Given the description of an element on the screen output the (x, y) to click on. 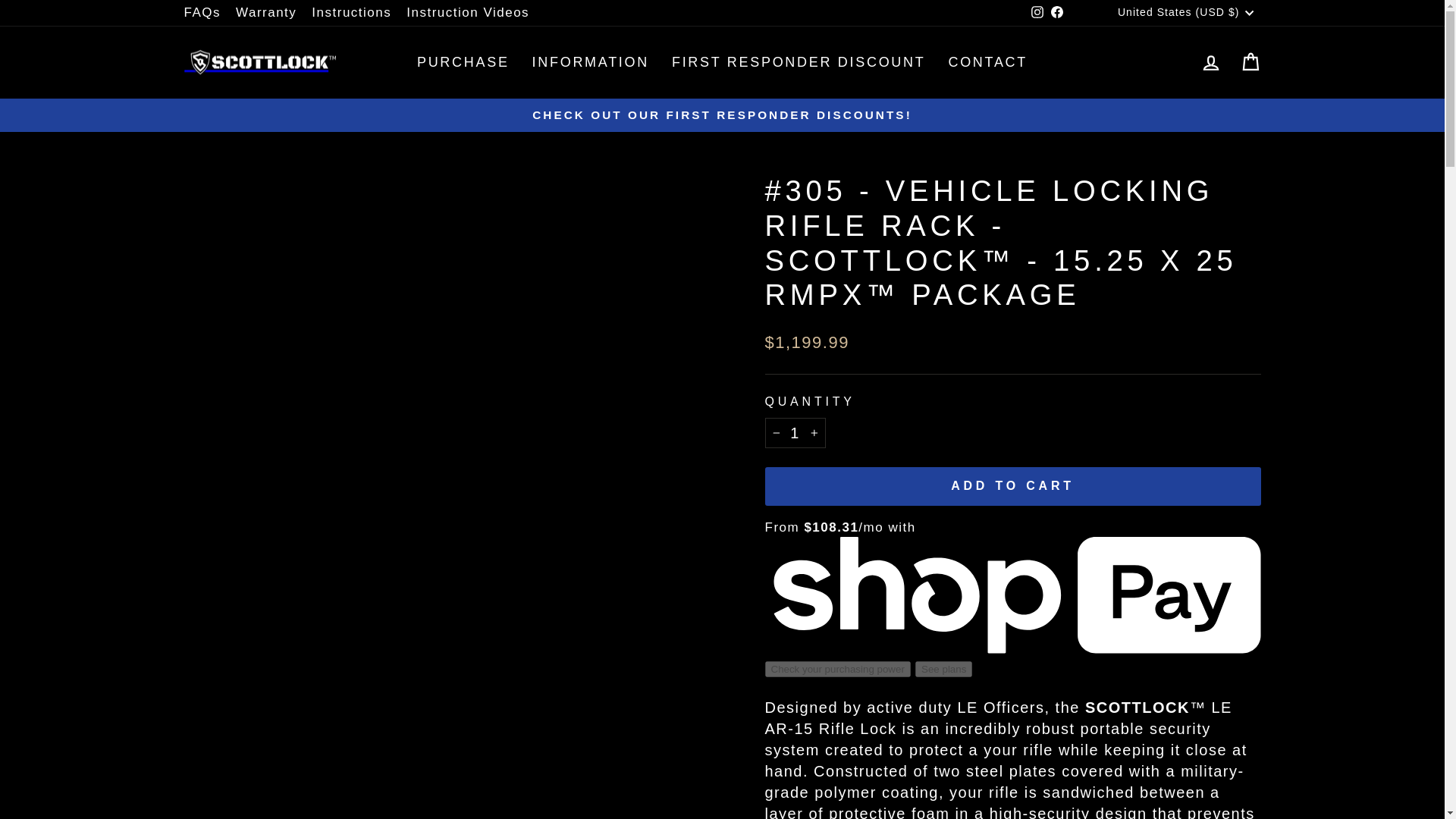
INFORMATION (591, 62)
PURCHASE (463, 62)
Instruction Videos (467, 12)
Warranty (266, 12)
1 (794, 432)
CONTACT (987, 62)
FIRST RESPONDER DISCOUNT (799, 62)
Instructions (351, 12)
FAQs (202, 12)
